Given the description of an element on the screen output the (x, y) to click on. 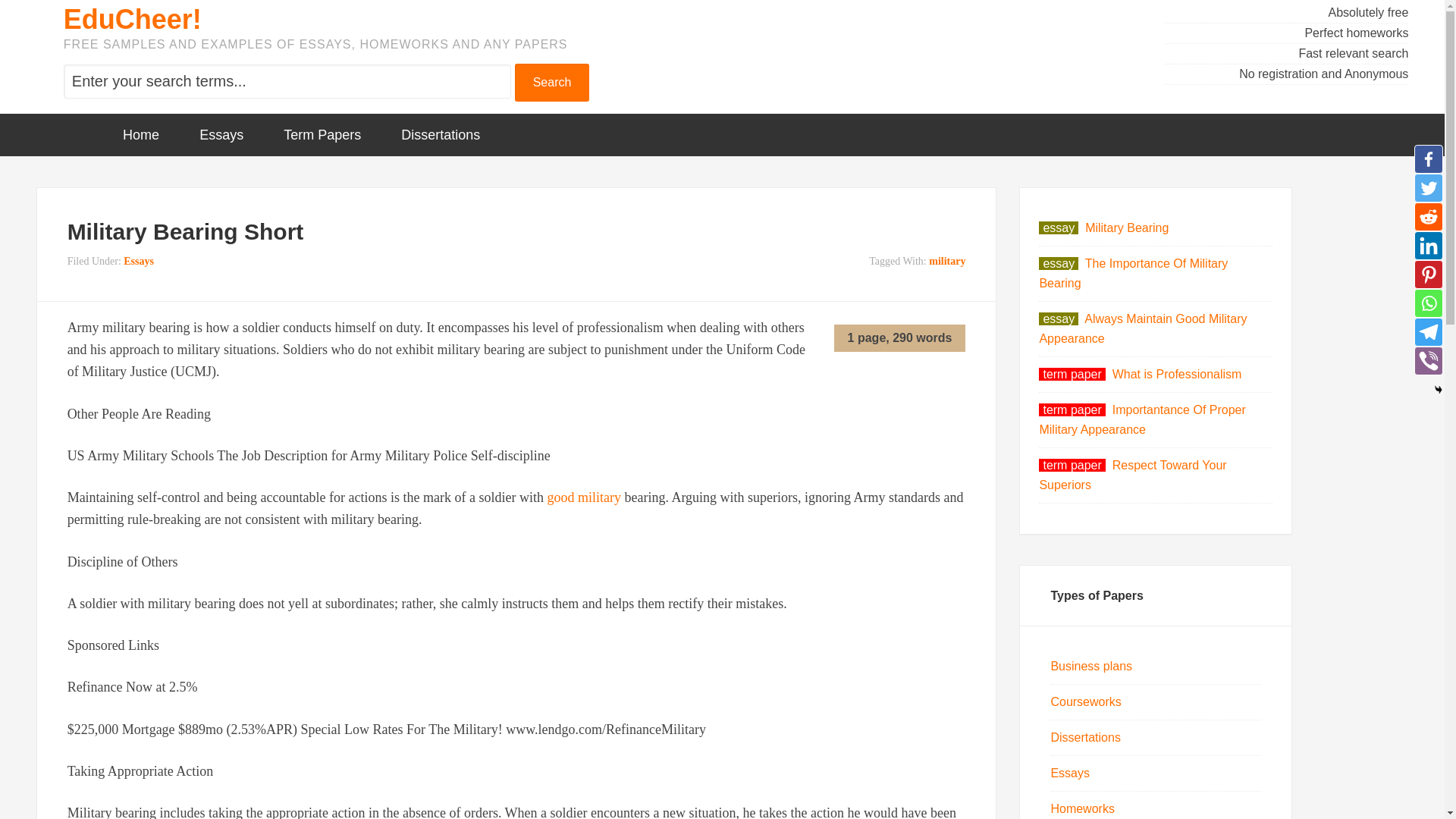
essay  Always Maintain Good Military Appearance (1142, 328)
Dissertations (439, 134)
Business plans (1090, 666)
good military (584, 497)
Pinterest (1427, 274)
Viber (1427, 360)
term paper  Importantance Of Proper Military Appearance (1141, 419)
Essays (138, 260)
Courseworks (1085, 701)
military (946, 260)
Term Papers (321, 134)
Reddit (1427, 216)
Essays (1069, 772)
Enter your search terms... (287, 81)
Dissertations (1084, 737)
